Given the description of an element on the screen output the (x, y) to click on. 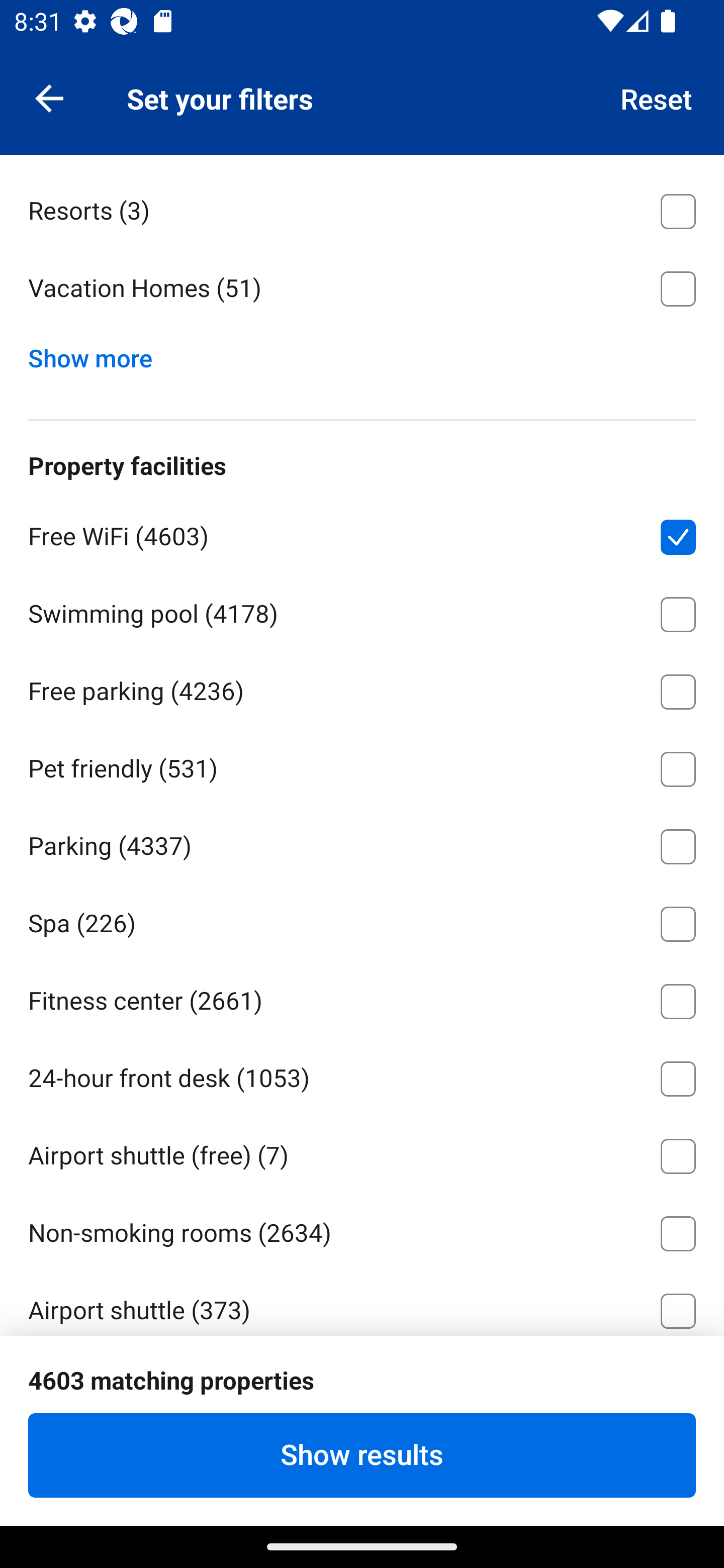
Navigate up (49, 97)
Reset (656, 97)
Resorts ⁦(3) (361, 207)
Vacation Homes ⁦(51) (361, 288)
Show more (97, 353)
Free WiFi ⁦(4603) (361, 533)
Swimming pool ⁦(4178) (361, 610)
Free parking ⁦(4236) (361, 688)
Pet friendly ⁦(531) (361, 765)
Parking ⁦(4337) (361, 842)
Spa ⁦(226) (361, 920)
Fitness center ⁦(2661) (361, 997)
24-hour front desk ⁦(1053) (361, 1075)
Airport shuttle (free) ⁦(7) (361, 1152)
Non-smoking rooms ⁦(2634) (361, 1229)
Airport shuttle ⁦(373) (361, 1301)
Restaurant ⁦(301) (361, 1384)
Show results (361, 1454)
